Given the description of an element on the screen output the (x, y) to click on. 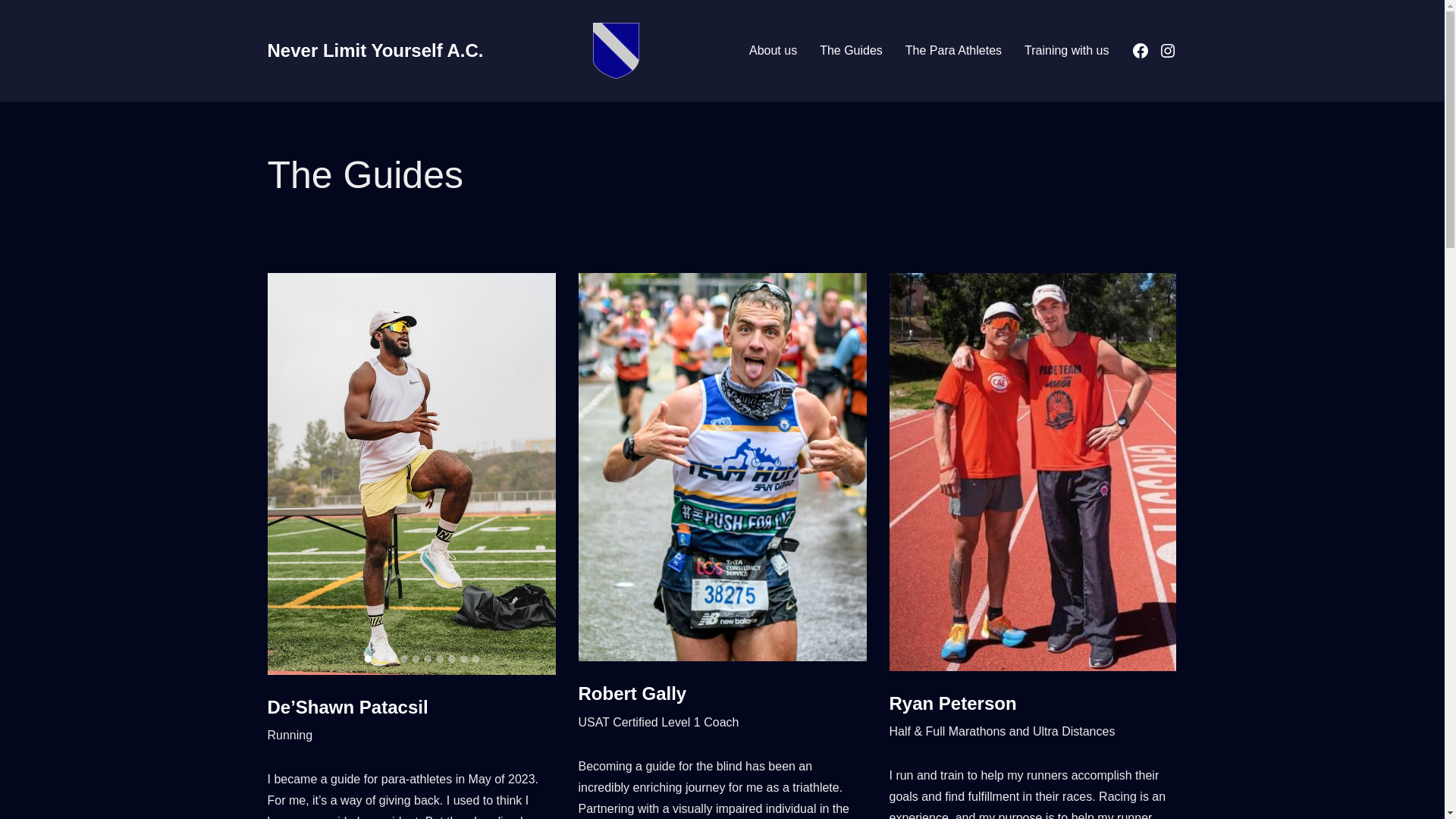
Training with us (1066, 50)
About us (772, 50)
The Para Athletes (953, 50)
The Guides (850, 50)
Instagram (1167, 50)
Facebook (1140, 50)
Never Limit Yourself A.C. (374, 50)
